Given the description of an element on the screen output the (x, y) to click on. 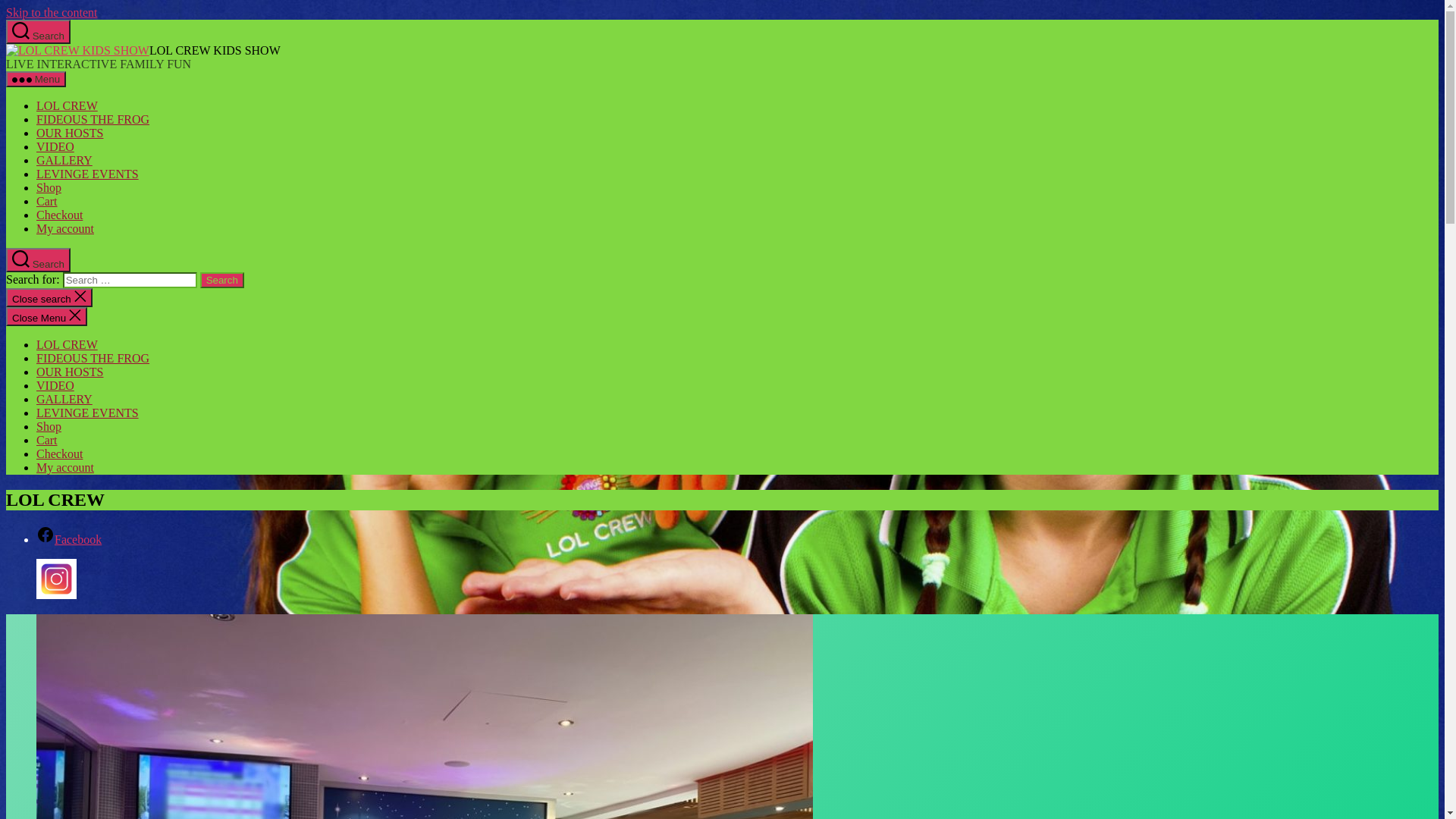
LEVINGE EVENTS Element type: text (87, 412)
Cart Element type: text (46, 200)
VIDEO Element type: text (55, 385)
Shop Element type: text (48, 426)
Facebook Element type: text (68, 539)
Search Element type: text (38, 31)
LOL CREW Element type: text (66, 344)
FIDEOUS THE FROG Element type: text (92, 118)
Cart Element type: text (46, 439)
My account Element type: text (65, 467)
Menu Element type: text (35, 79)
Search Element type: text (222, 280)
Checkout Element type: text (59, 453)
LOL CREW Element type: text (66, 105)
My account Element type: text (65, 228)
GALLERY Element type: text (64, 398)
Shop Element type: text (48, 187)
Skip to the content Element type: text (51, 12)
Checkout Element type: text (59, 214)
VIDEO Element type: text (55, 146)
Close search Element type: text (49, 297)
OUR HOSTS Element type: text (69, 132)
OUR HOSTS Element type: text (69, 371)
LEVINGE EVENTS Element type: text (87, 173)
GALLERY Element type: text (64, 159)
FIDEOUS THE FROG Element type: text (92, 357)
Close Menu Element type: text (46, 316)
Search Element type: text (38, 259)
